Given the description of an element on the screen output the (x, y) to click on. 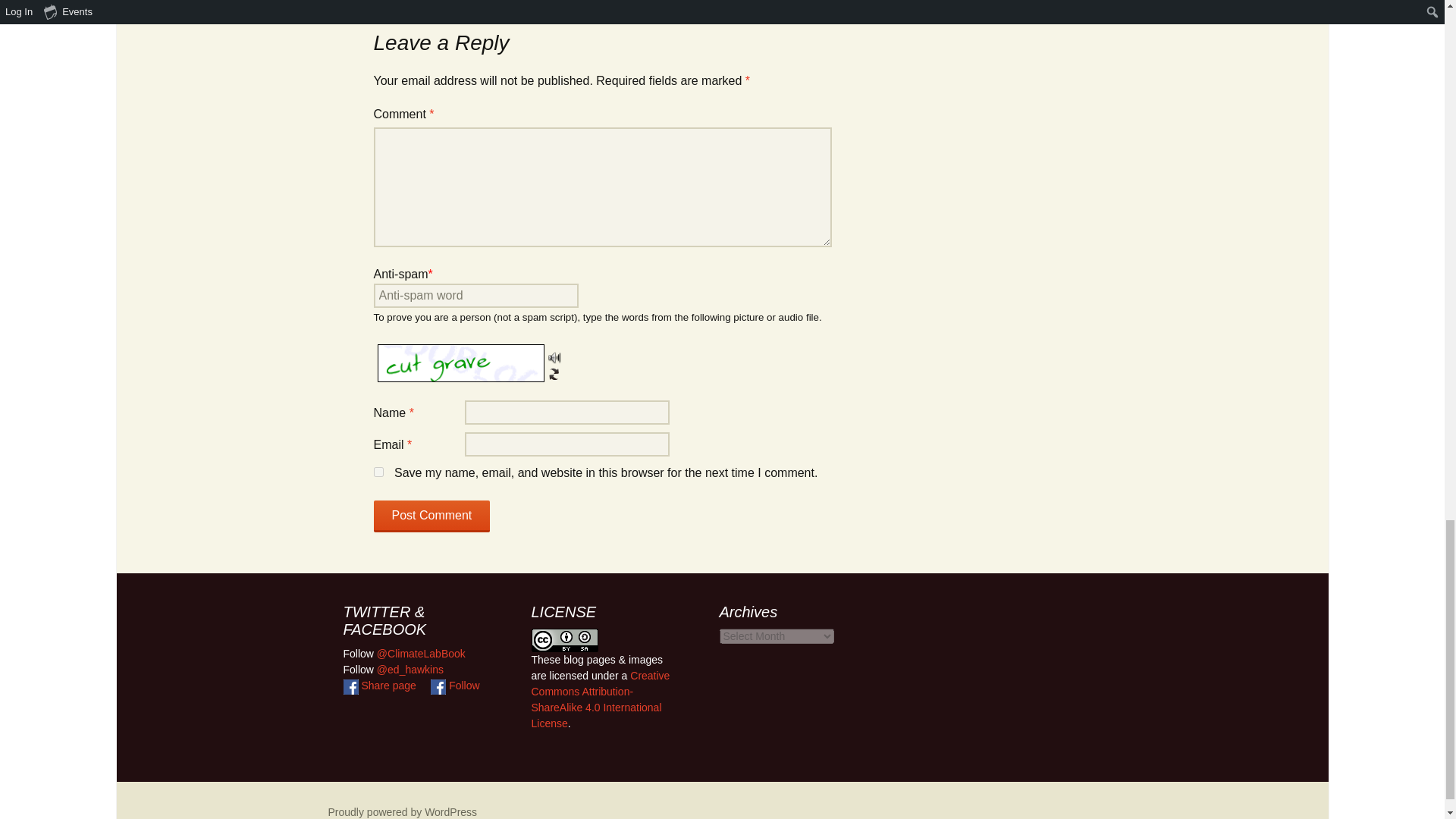
Post Comment (430, 516)
Listen (553, 354)
yes (377, 471)
Post Comment (430, 516)
Load new (553, 369)
